Given the description of an element on the screen output the (x, y) to click on. 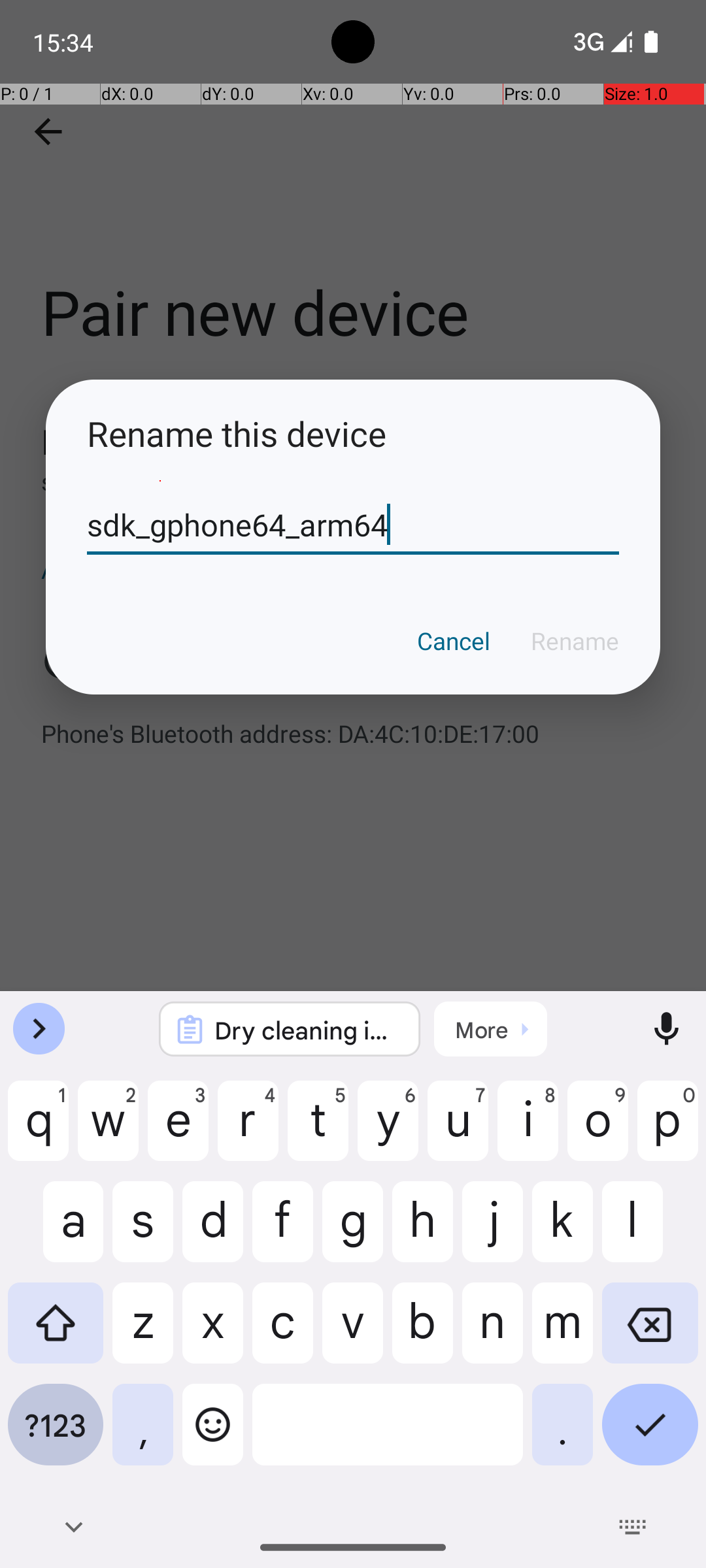
Rename this device Element type: android.widget.TextView (352, 433)
Rename Element type: android.widget.Button (574, 640)
